Given the description of an element on the screen output the (x, y) to click on. 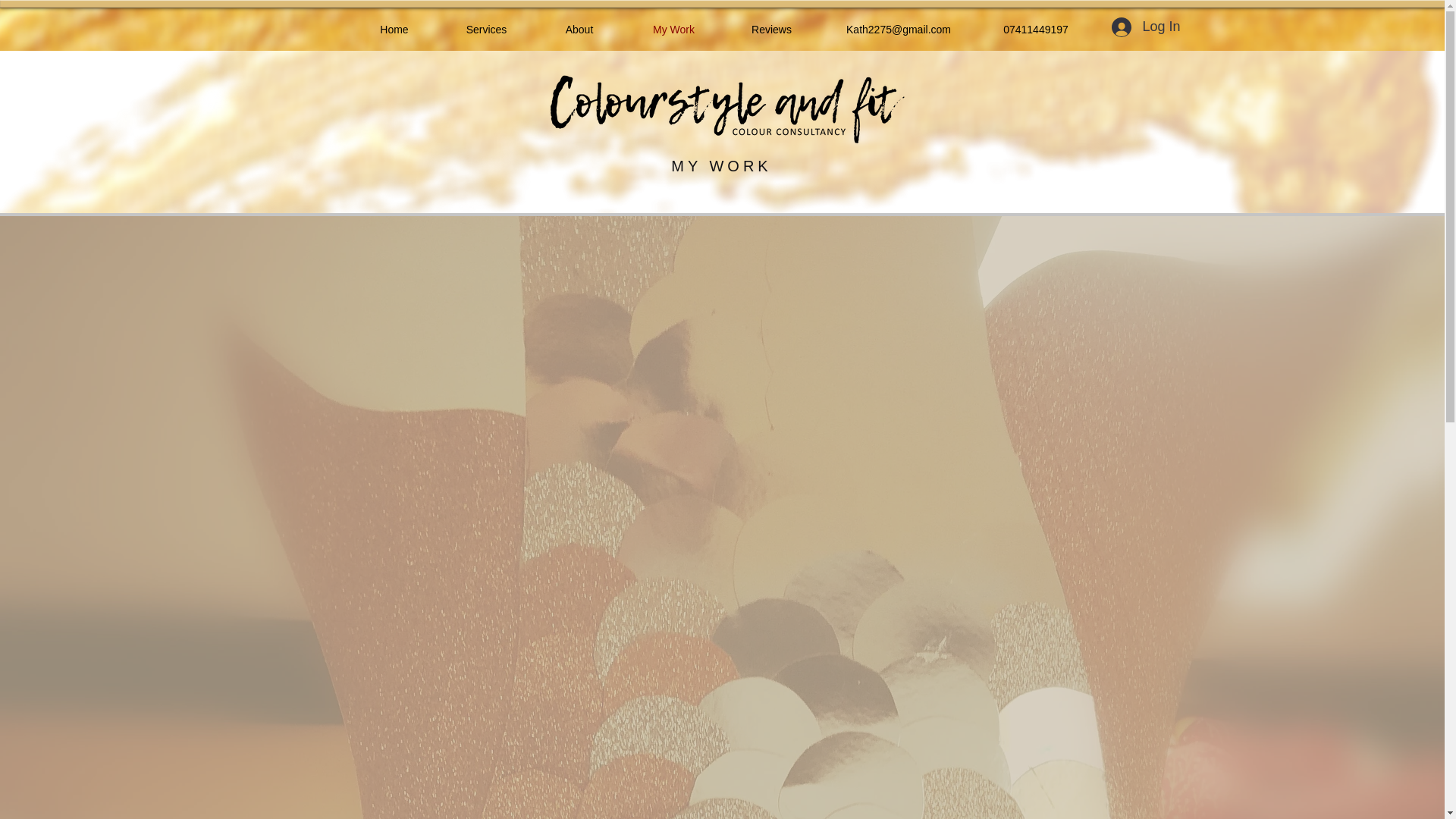
Home (394, 29)
Log In (1145, 27)
Reviews (770, 29)
About (579, 29)
07411449197 (1036, 29)
My Work (673, 29)
